Given the description of an element on the screen output the (x, y) to click on. 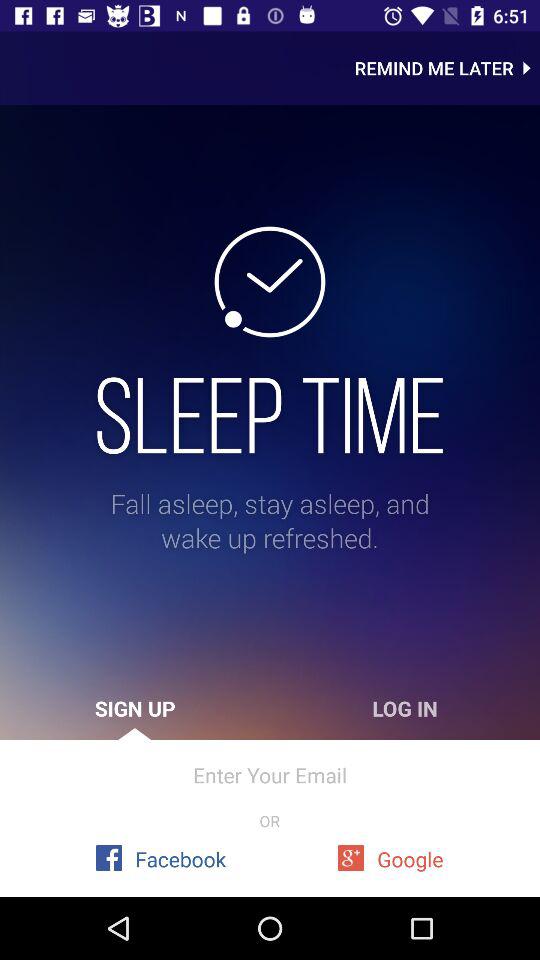
swipe to enter your email icon (270, 774)
